Given the description of an element on the screen output the (x, y) to click on. 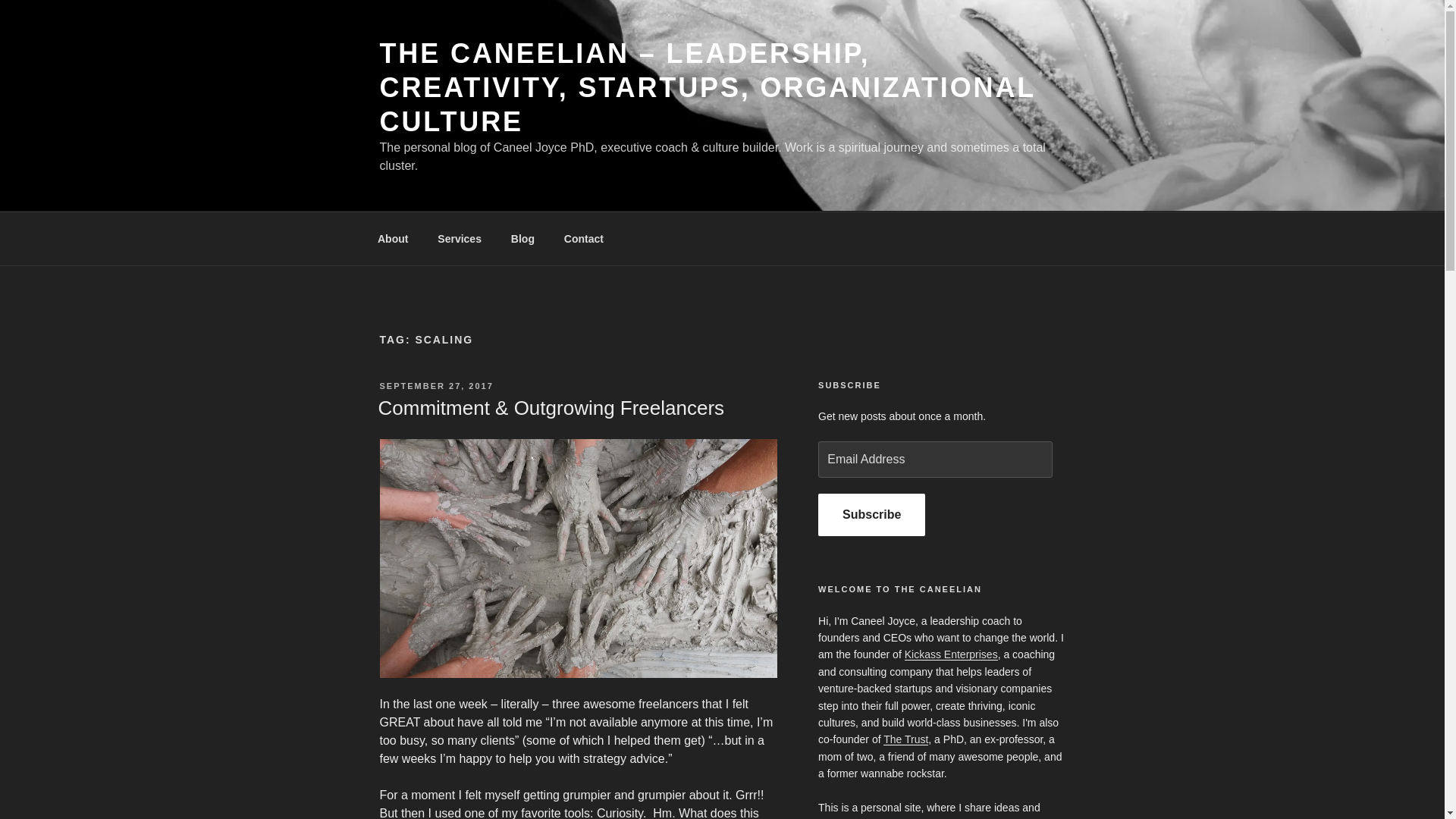
Services (460, 238)
Subscribe (871, 514)
About (392, 238)
The Trust (905, 739)
Contact (582, 238)
Kickass Enterprises (950, 654)
Please get in touch! (582, 238)
SEPTEMBER 27, 2017 (435, 385)
Blog (522, 238)
